Given the description of an element on the screen output the (x, y) to click on. 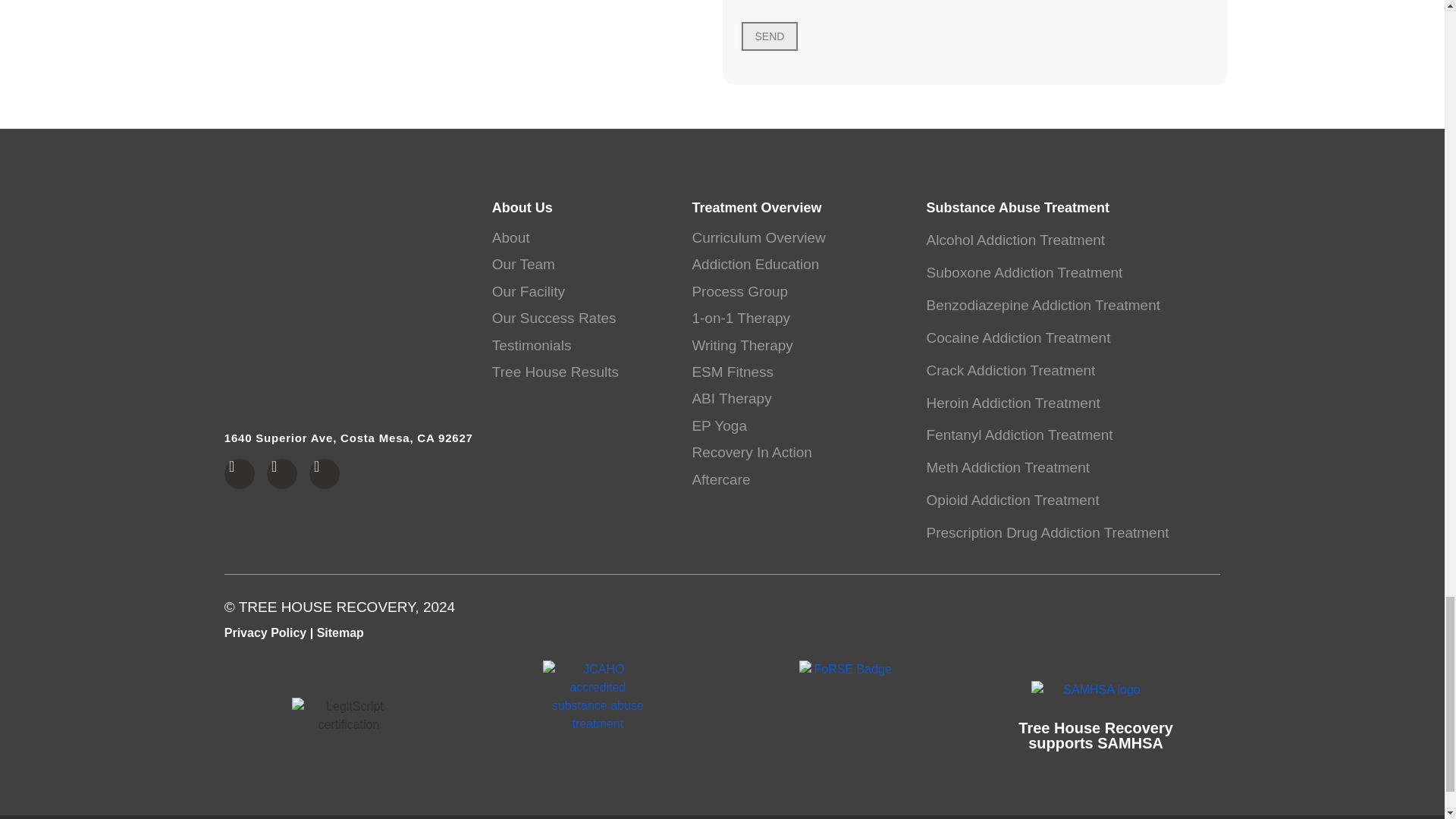
Tree house recovery, costa mesa, California (348, 312)
SEND (769, 36)
